Given the description of an element on the screen output the (x, y) to click on. 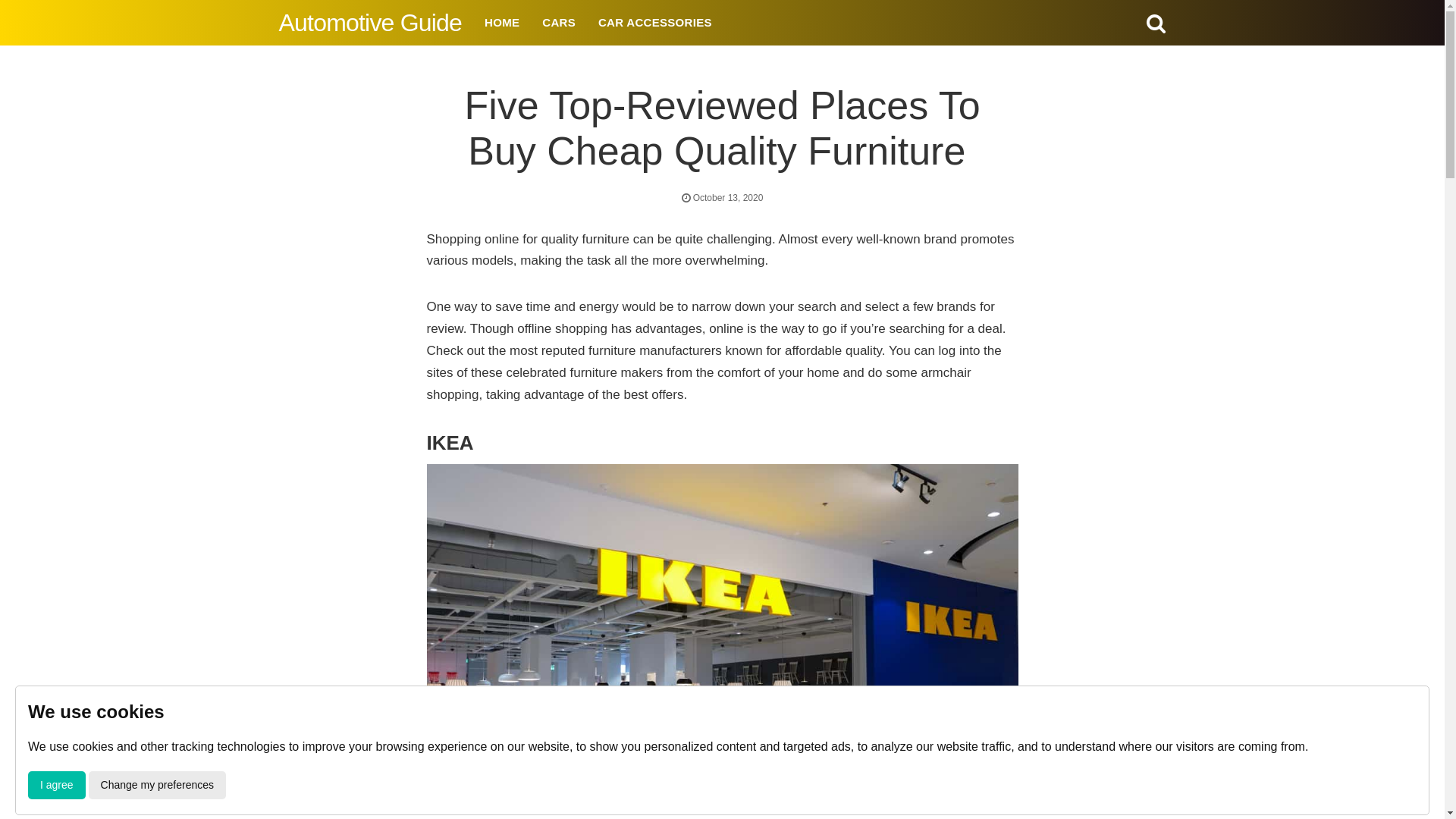
Change my preferences (156, 785)
CARS (558, 22)
I agree (56, 785)
Automotive Guide (371, 22)
CAR ACCESSORIES (654, 22)
HOME (502, 22)
